Given the description of an element on the screen output the (x, y) to click on. 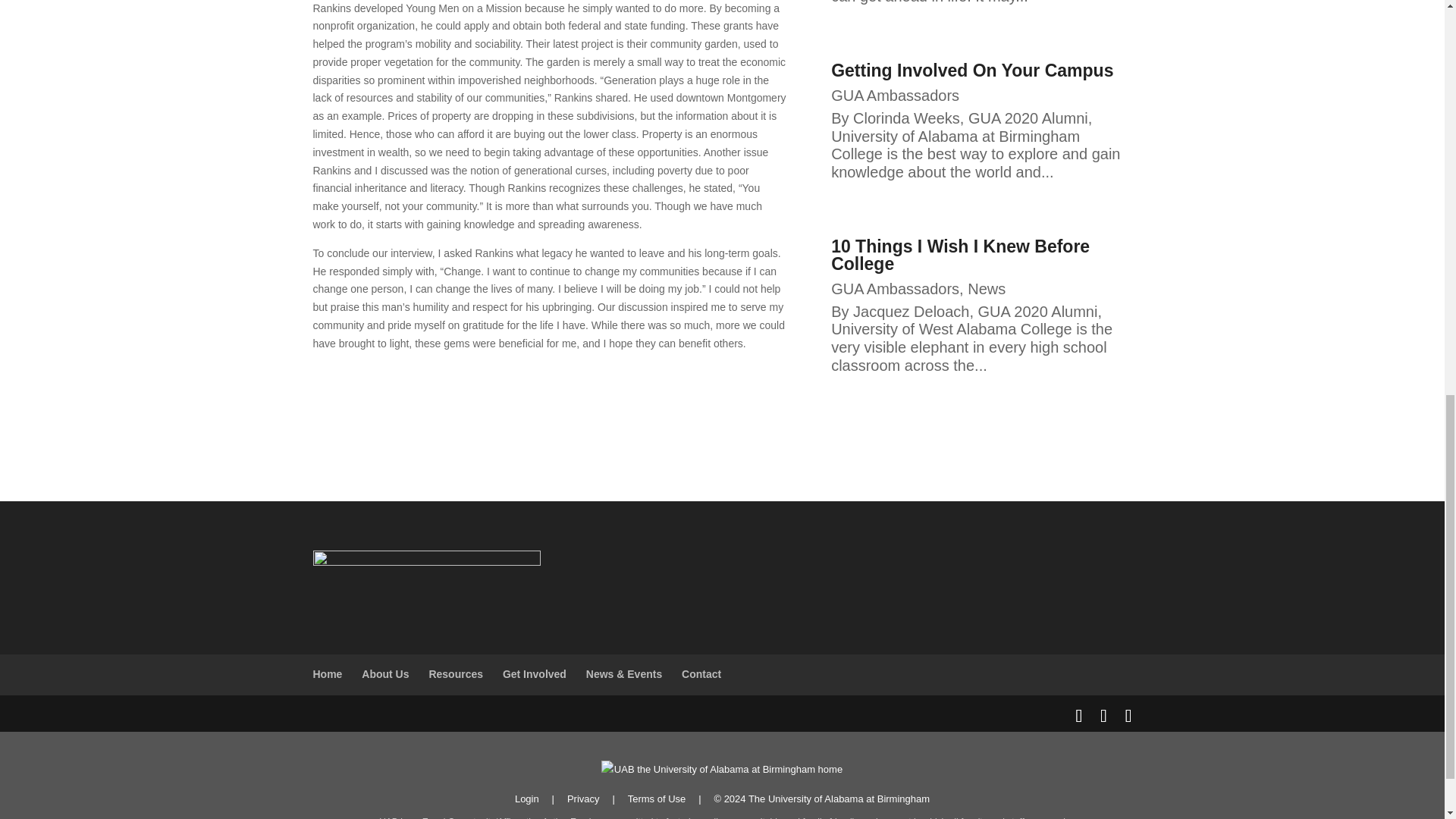
About Us (385, 674)
Get Involved (534, 674)
News (987, 288)
GUA Ambassadors (895, 288)
10 Things I Wish I Knew Before College (960, 254)
Follow on X (579, 387)
Follow on Instagram (549, 387)
Contact (700, 674)
Follow on Facebook (518, 387)
Resources (455, 674)
Getting Involved On Your Campus (972, 70)
Home (327, 674)
GUA Ambassadors (895, 95)
Login (526, 798)
